Given the description of an element on the screen output the (x, y) to click on. 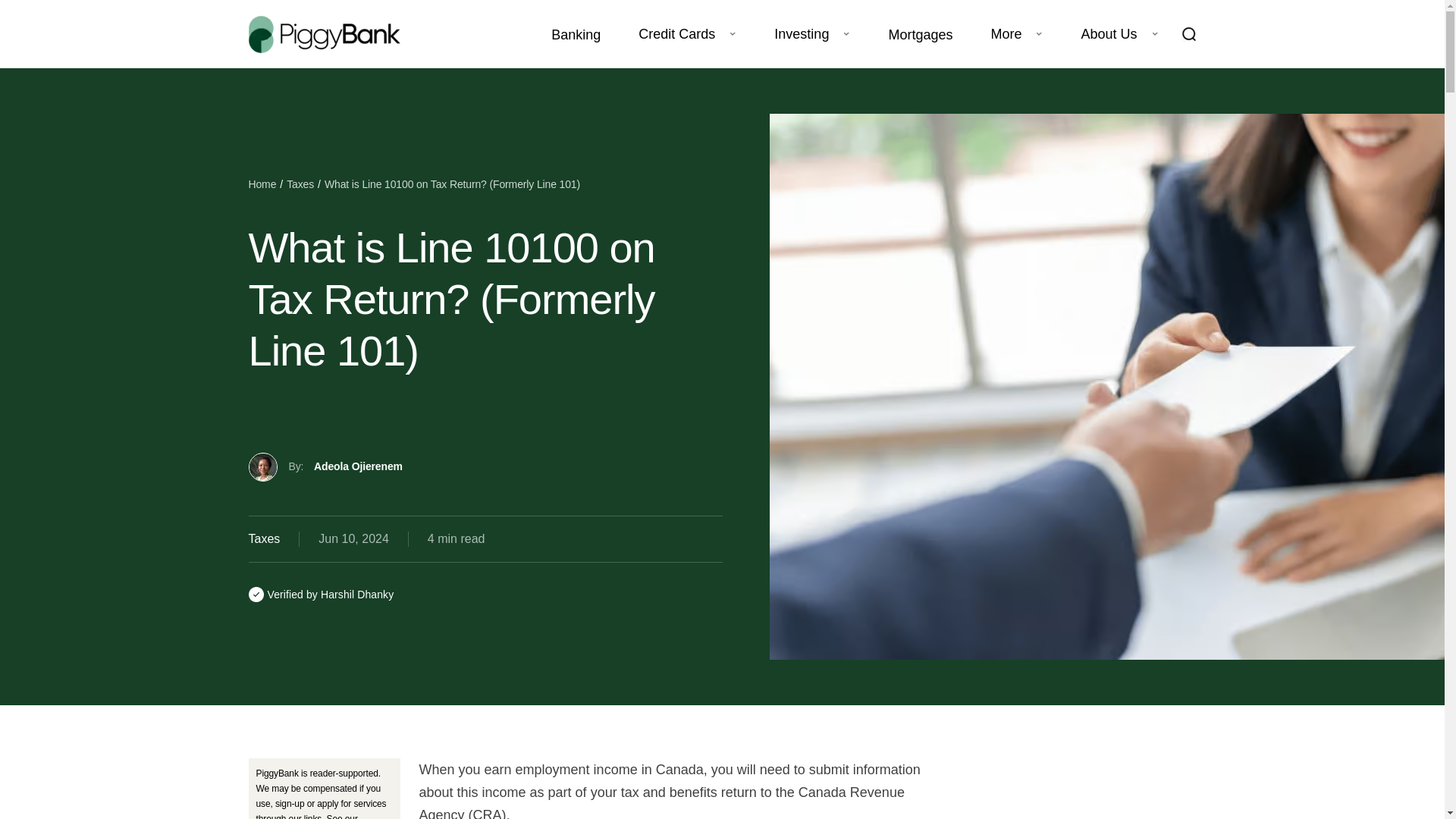
About Us (1108, 33)
Mortgages (920, 34)
Taxes (300, 184)
Credit Cards (676, 33)
Adeola Ojierenem (358, 466)
Banking (575, 34)
Posts by Adeola Ojierenem (358, 466)
Home (262, 184)
Investing (801, 33)
More (1006, 33)
